Given the description of an element on the screen output the (x, y) to click on. 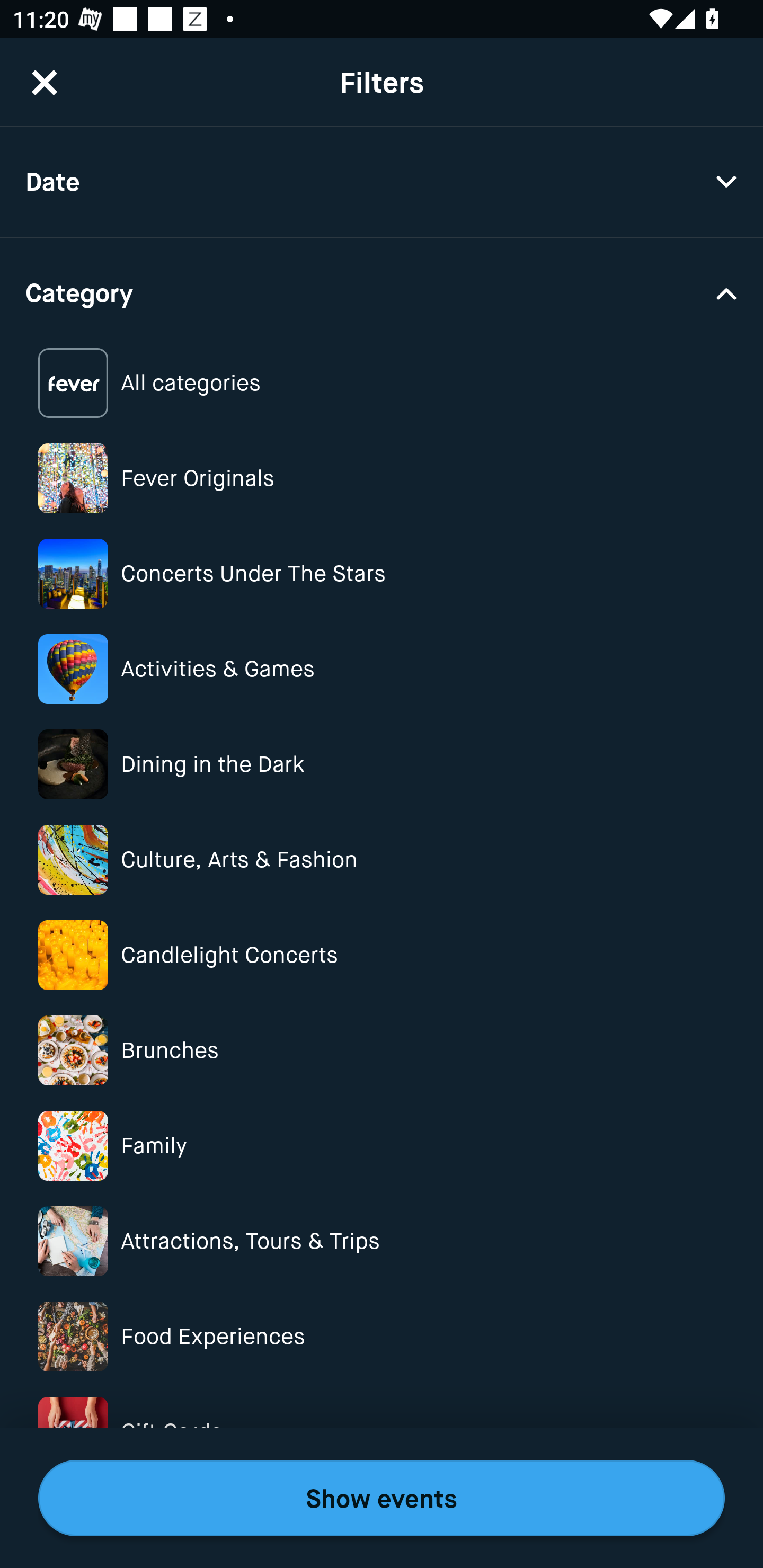
CloseButton (44, 82)
Date Drop Down Arrow (381, 182)
Category Drop Down Arrow (381, 291)
Category Image All categories (381, 382)
Category Image Fever Originals (381, 477)
Category Image Concerts Under The Stars (381, 573)
Category Image Activities & Games (381, 668)
Category Image Dining in the Dark (381, 763)
Category Image Culture, Arts & Fashion (381, 859)
Category Image Candlelight Concerts (381, 954)
Category Image Brunches (381, 1050)
Category Image Family (381, 1145)
Category Image Attractions, Tours & Trips (381, 1240)
Category Image Food Experiences (381, 1336)
Show events (381, 1497)
